Given the description of an element on the screen output the (x, y) to click on. 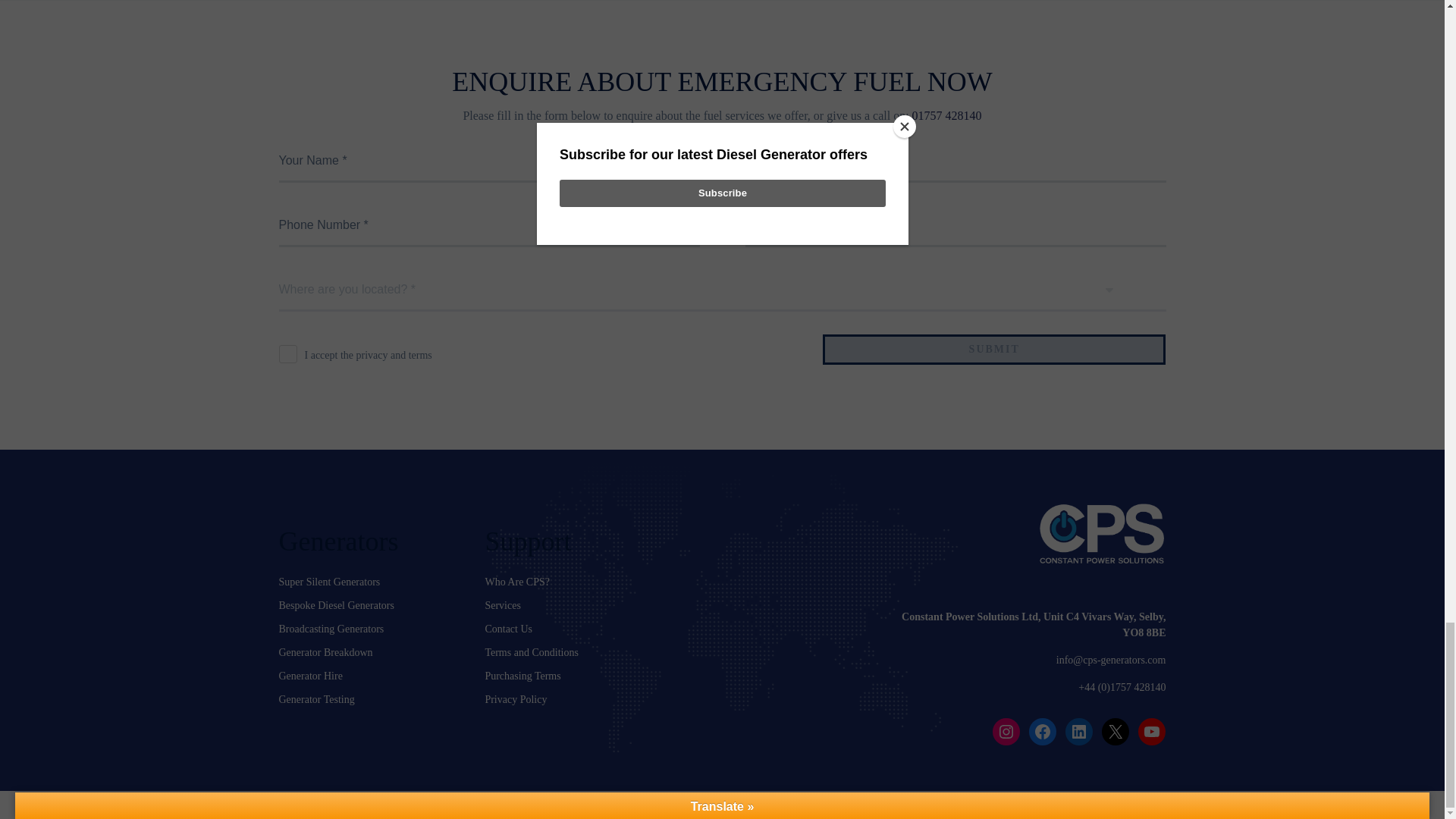
Submit (994, 349)
1 (288, 353)
